Given the description of an element on the screen output the (x, y) to click on. 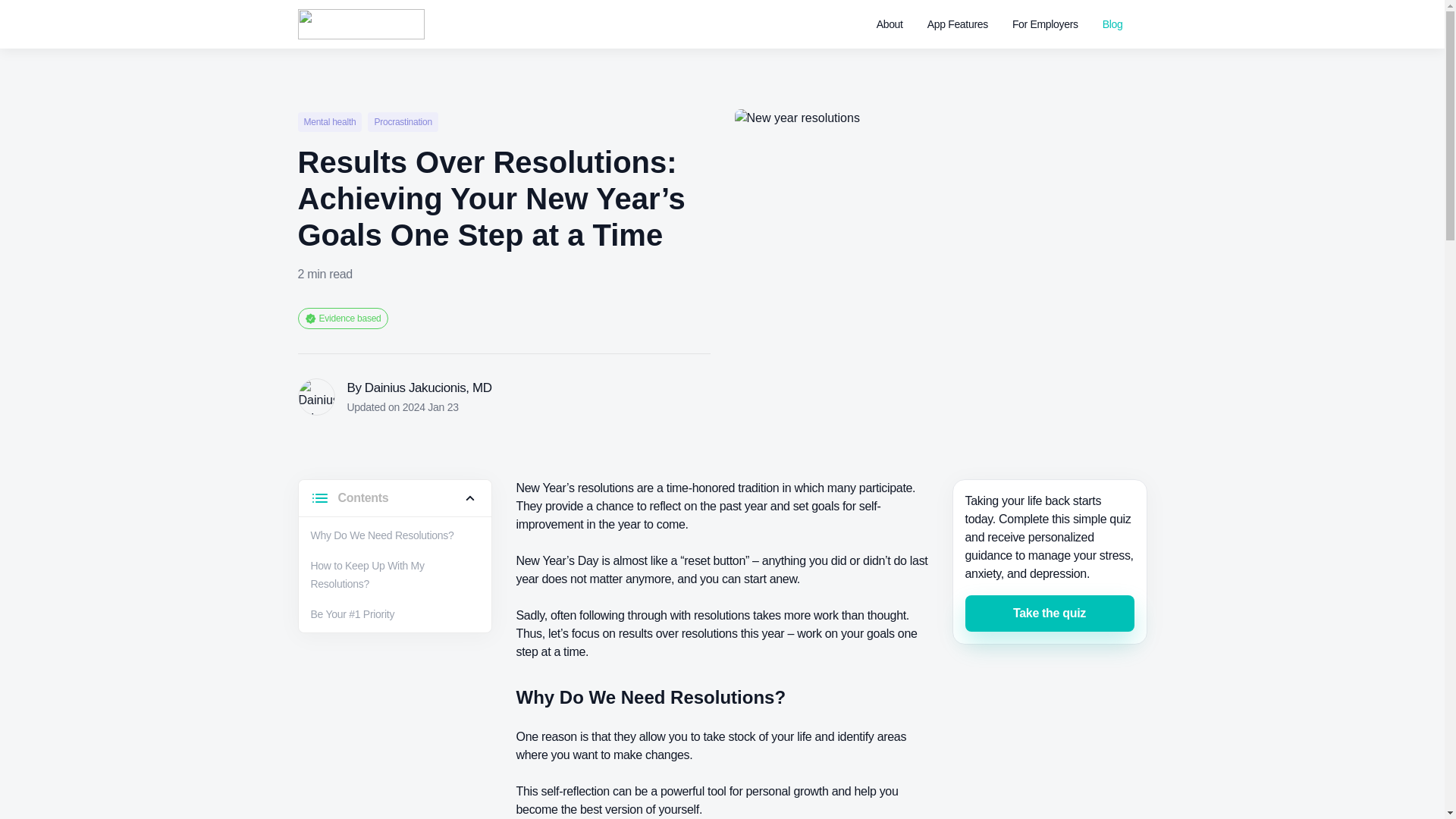
How to Keep Up With My Resolutions? (368, 574)
How to Keep Up With My Resolutions? (368, 574)
Blog (1112, 24)
For Employers (1044, 24)
Dainius Jakucionis, MD (428, 387)
Mental health (329, 121)
Procrastination (403, 121)
About (889, 24)
Take the quiz (1048, 613)
App Features (957, 24)
